Given the description of an element on the screen output the (x, y) to click on. 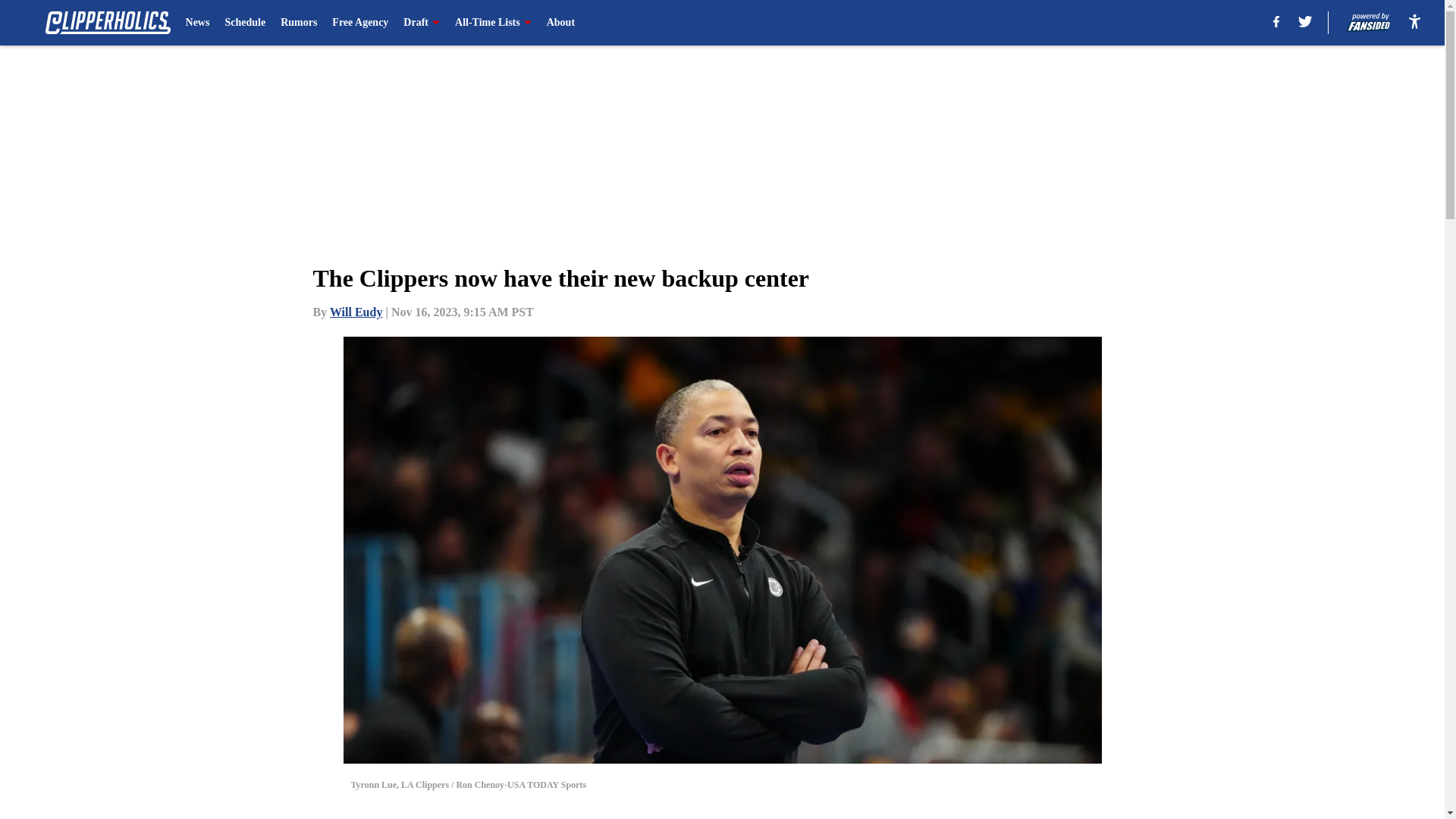
Will Eudy (356, 311)
Schedule (244, 22)
News (197, 22)
Free Agency (359, 22)
Rumors (299, 22)
About (561, 22)
All-Time Lists (492, 22)
Draft (421, 22)
